Given the description of an element on the screen output the (x, y) to click on. 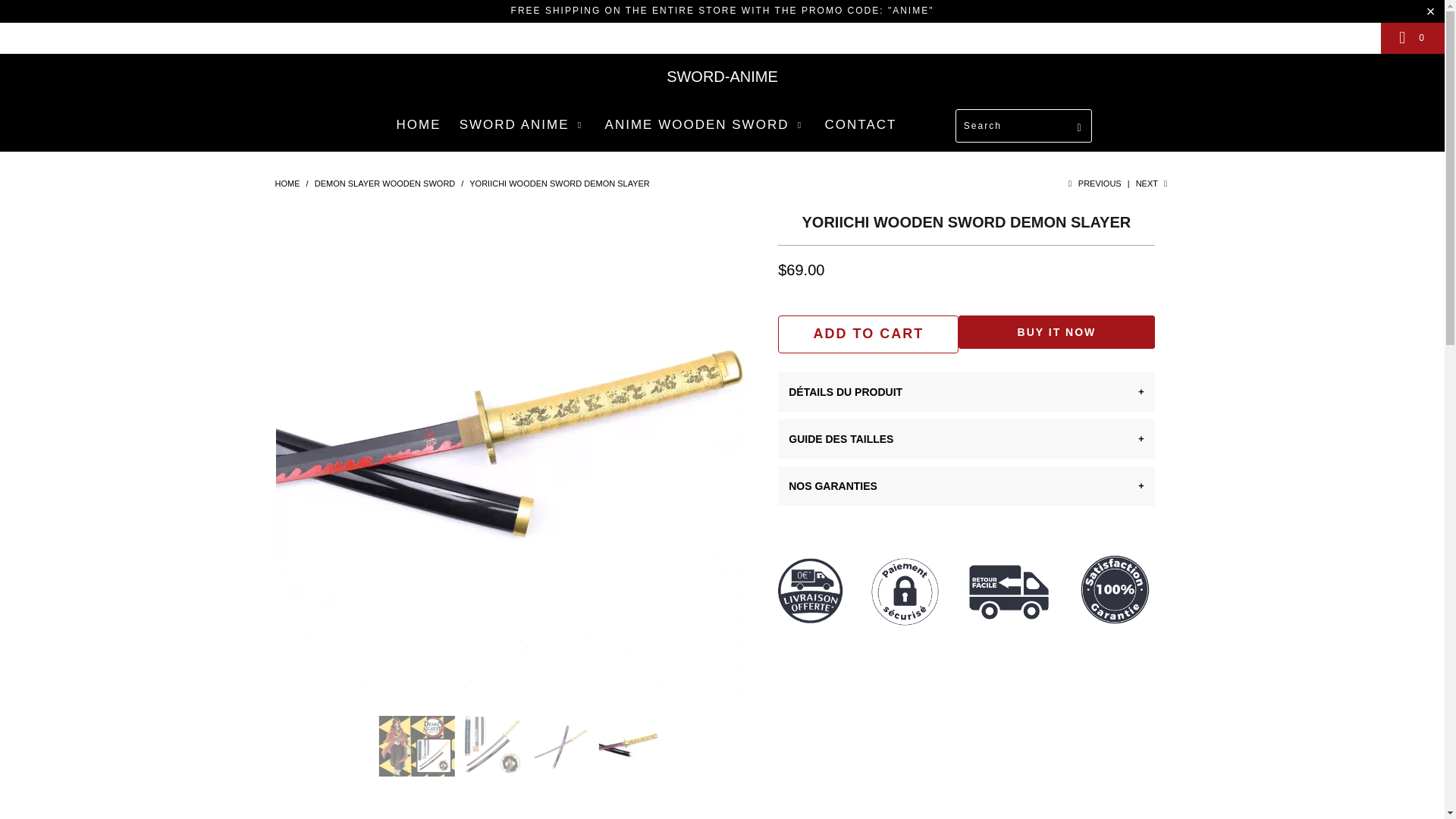
Next (1152, 183)
sword-anime (287, 183)
Previous (1092, 183)
DEMON SLAYER WOODEN SWORD (384, 183)
